Given the description of an element on the screen output the (x, y) to click on. 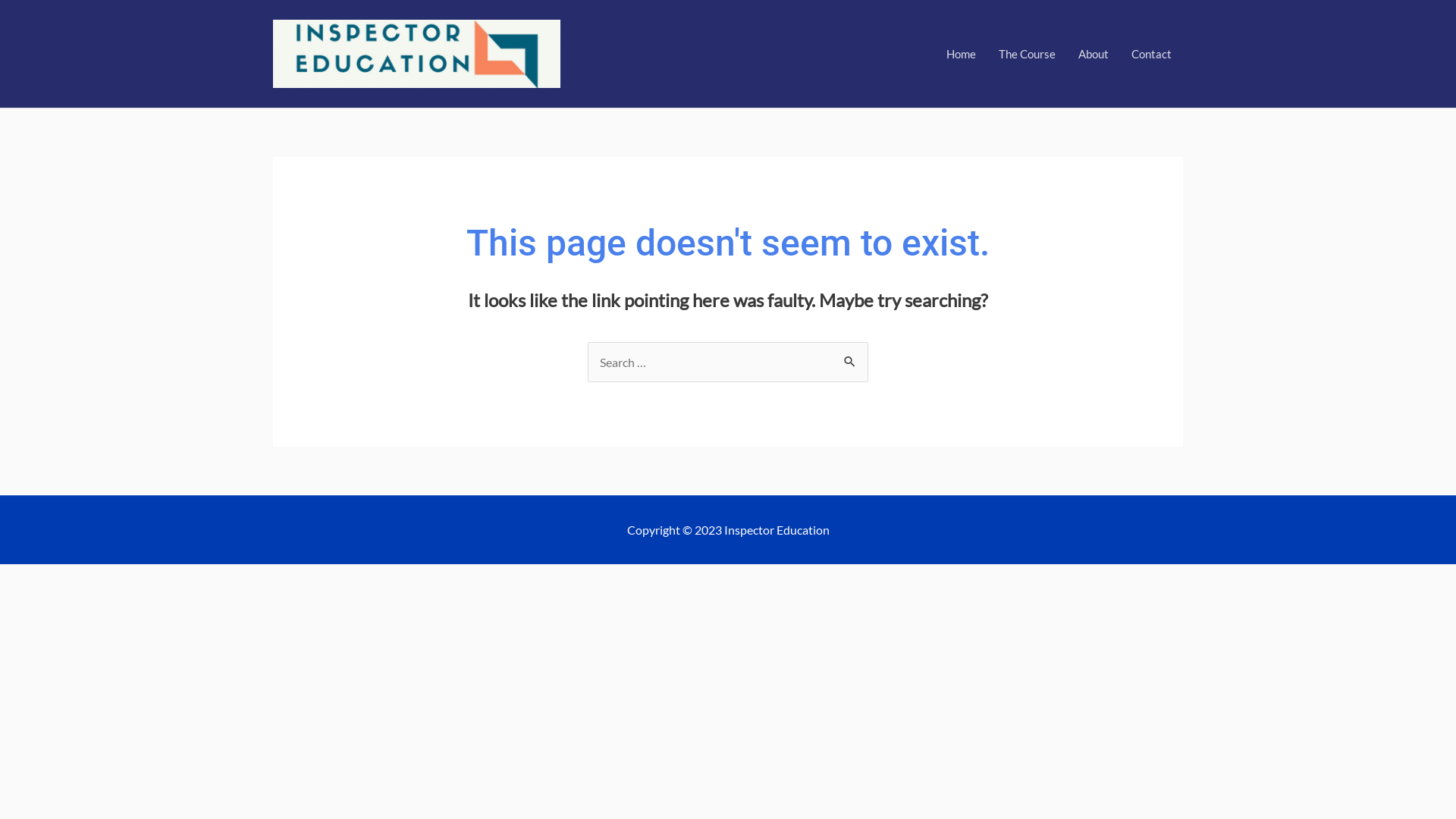
About Element type: text (1093, 53)
Home Element type: text (961, 53)
The Course Element type: text (1026, 53)
Search Element type: text (851, 357)
Contact Element type: text (1151, 53)
